Given the description of an element on the screen output the (x, y) to click on. 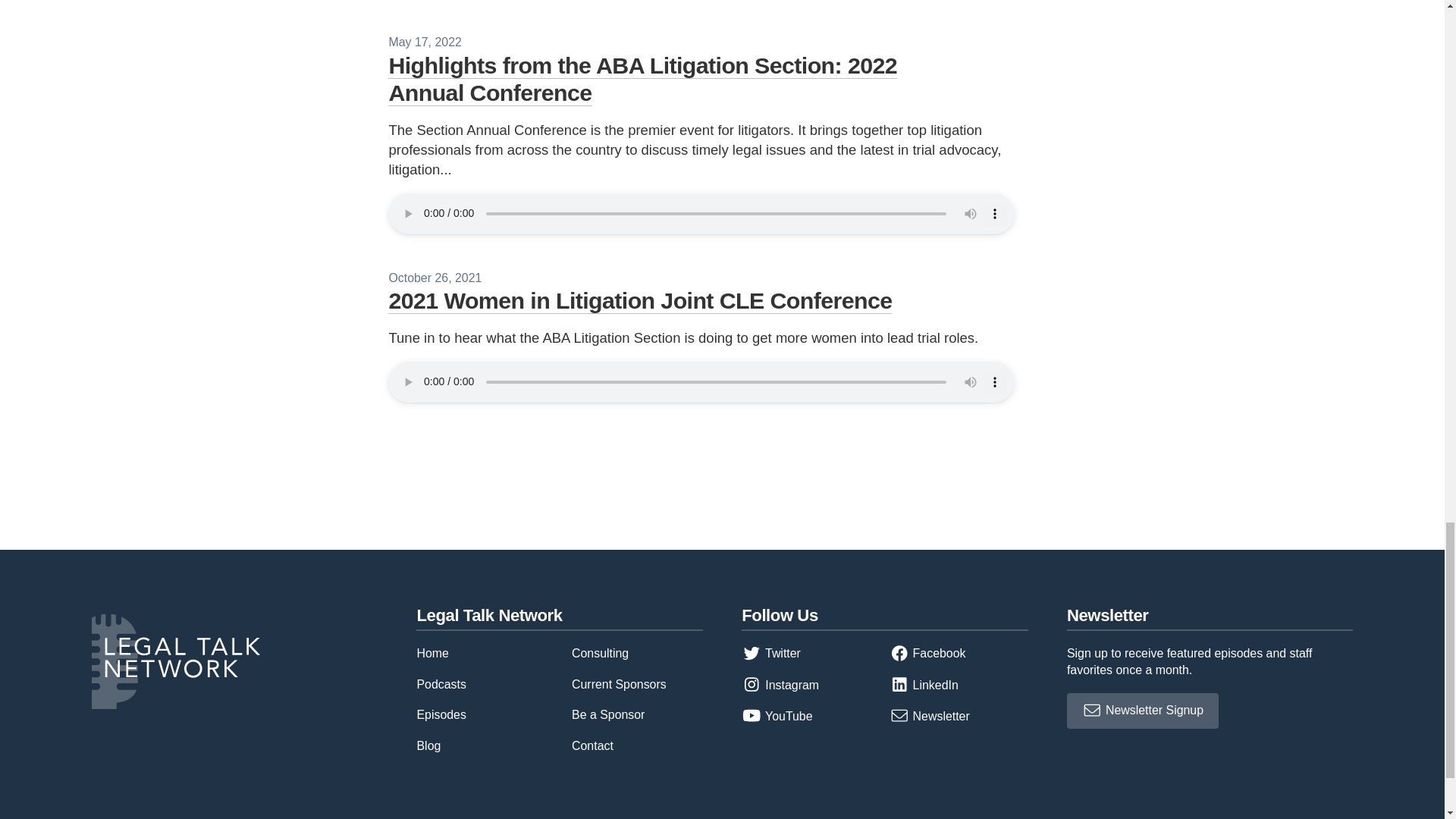
Home (432, 653)
Facebook (927, 653)
Be a Sponsor (608, 714)
Twitter (770, 653)
Instagram (779, 684)
Current Sponsors (619, 684)
Podcasts (440, 684)
Contact (592, 745)
LinkedIn (923, 684)
2021 Women in Litigation Joint CLE Conference (639, 300)
Blog (428, 745)
YouTube (776, 716)
Consulting (600, 653)
Episodes (440, 714)
